Given the description of an element on the screen output the (x, y) to click on. 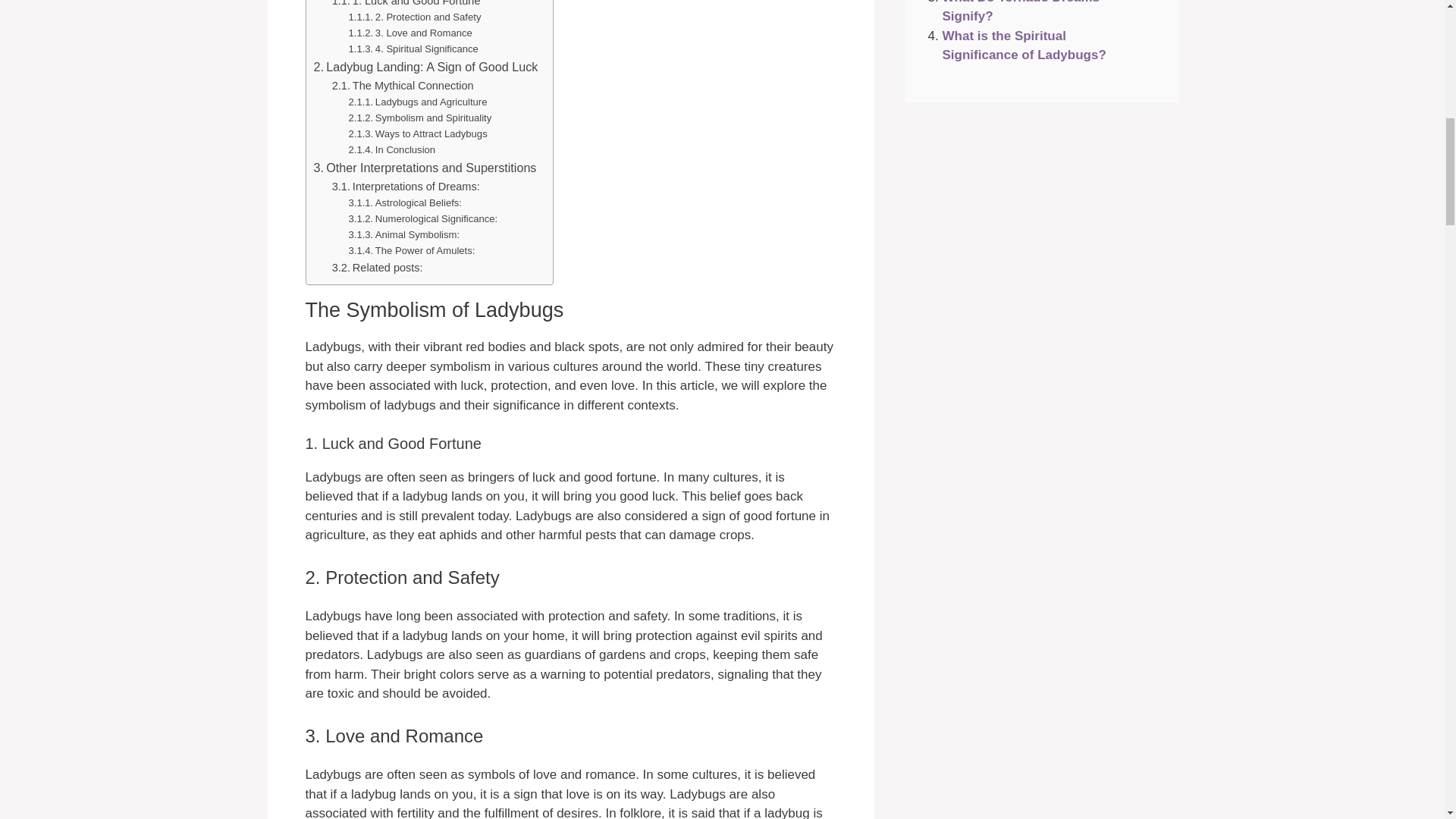
1. Luck and Good Fortune (405, 4)
The Power of Amulets: (412, 251)
3. Love and Romance (410, 33)
1. Luck and Good Fortune (405, 4)
2. Protection and Safety (415, 17)
2. Protection and Safety (415, 17)
Ladybugs and Agriculture (418, 102)
Ladybug Landing: A Sign of Good Luck (426, 66)
The Mythical Connection (402, 85)
The Mythical Connection (402, 85)
